Given the description of an element on the screen output the (x, y) to click on. 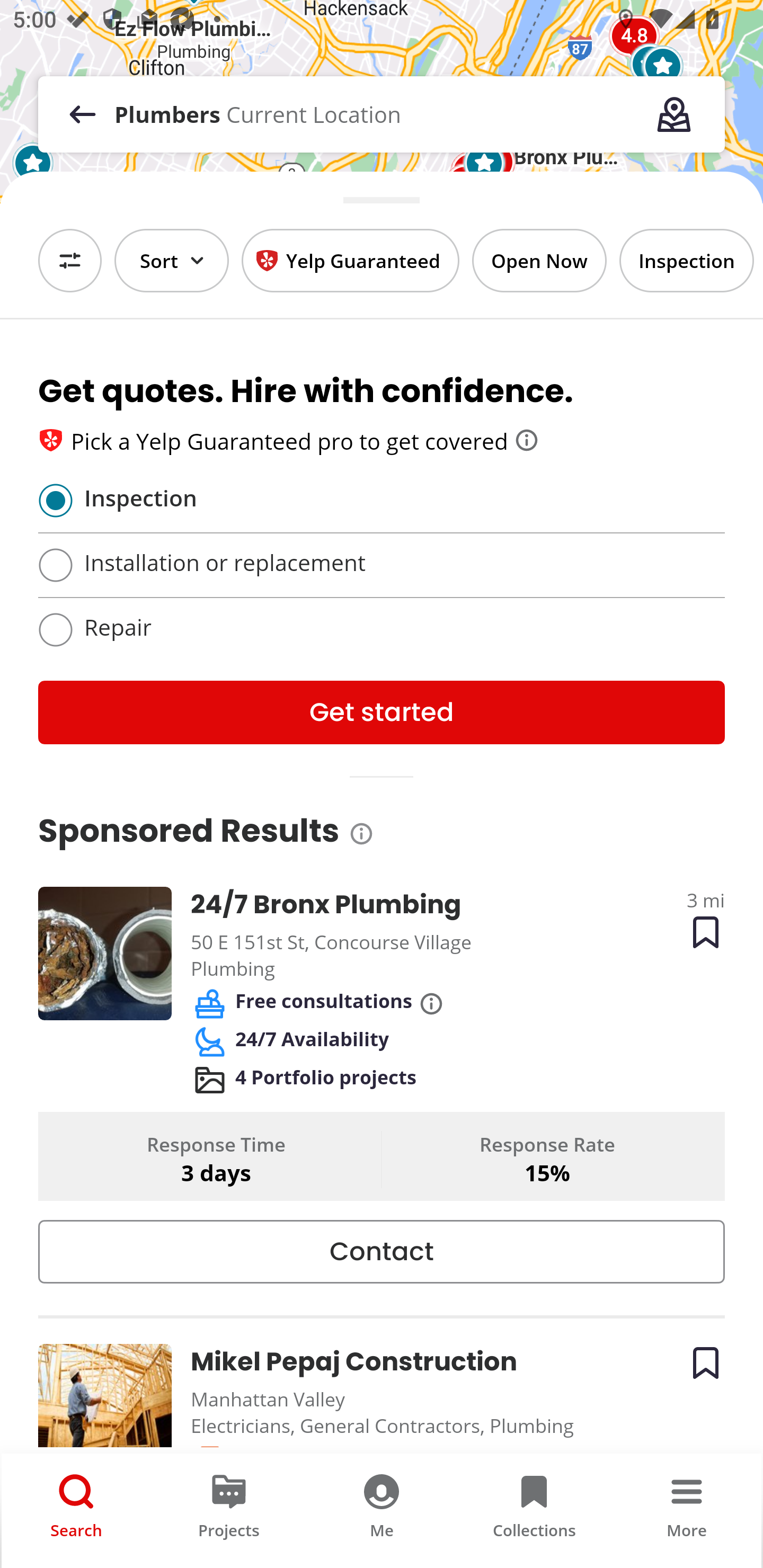
Yelp Guaranteed (350, 259)
